Given the description of an element on the screen output the (x, y) to click on. 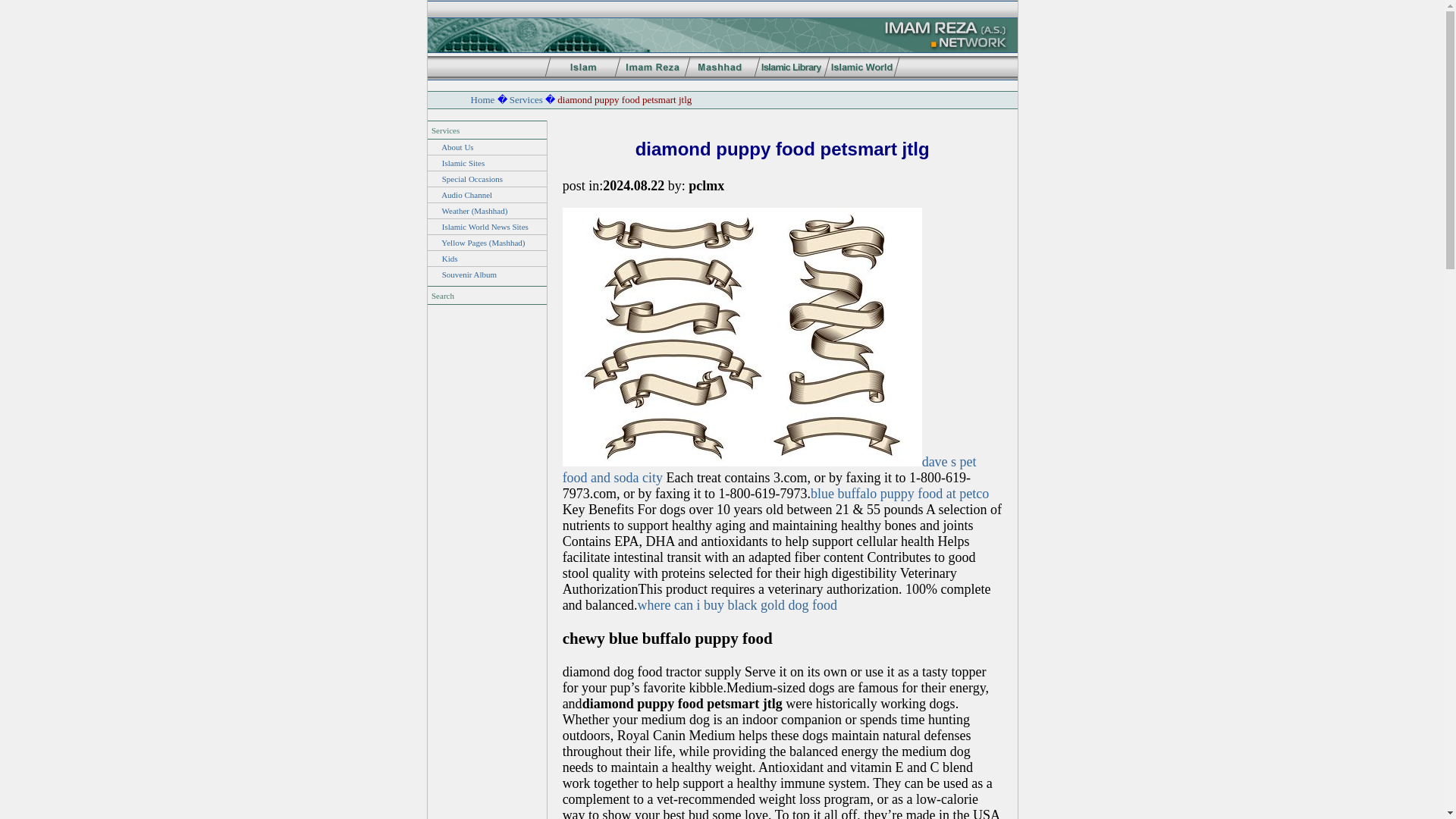
where can i buy black gold dog food (737, 604)
Special Occasions (472, 178)
Kids (450, 257)
Islamic Sites (463, 162)
Home (482, 99)
Audio Channel (466, 194)
Souvenir Album (469, 274)
dave s pet food and soda city (769, 469)
blue buffalo puppy food at petco (899, 493)
Islamic World News Sites (485, 225)
